Given the description of an element on the screen output the (x, y) to click on. 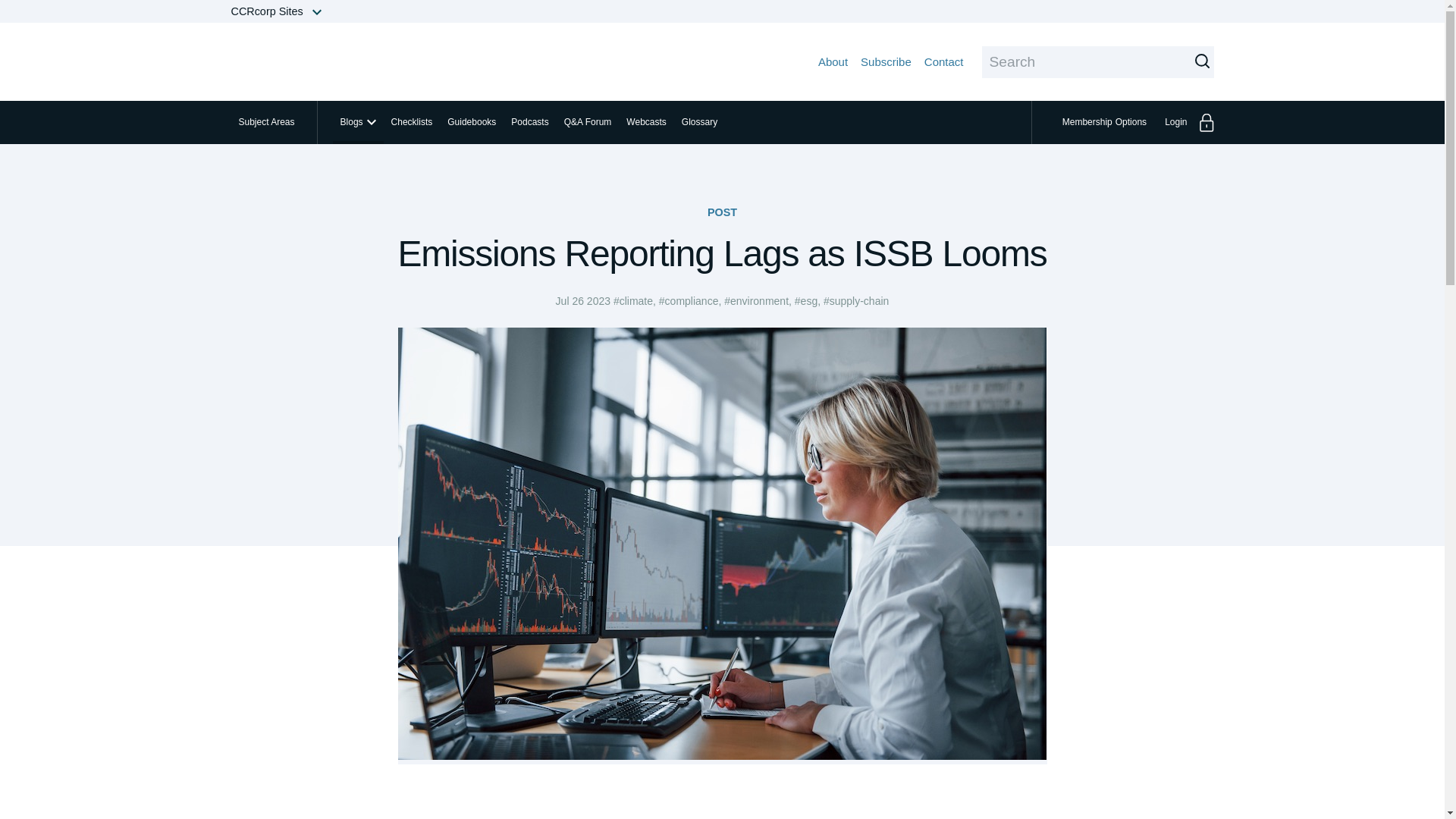
Webcasts (645, 122)
Glossary (699, 122)
Contact (943, 61)
Blogs (1105, 122)
Subscribe (358, 122)
Login (885, 61)
POST (1184, 122)
Subject Areas (721, 212)
PracticalESG (265, 122)
